Given the description of an element on the screen output the (x, y) to click on. 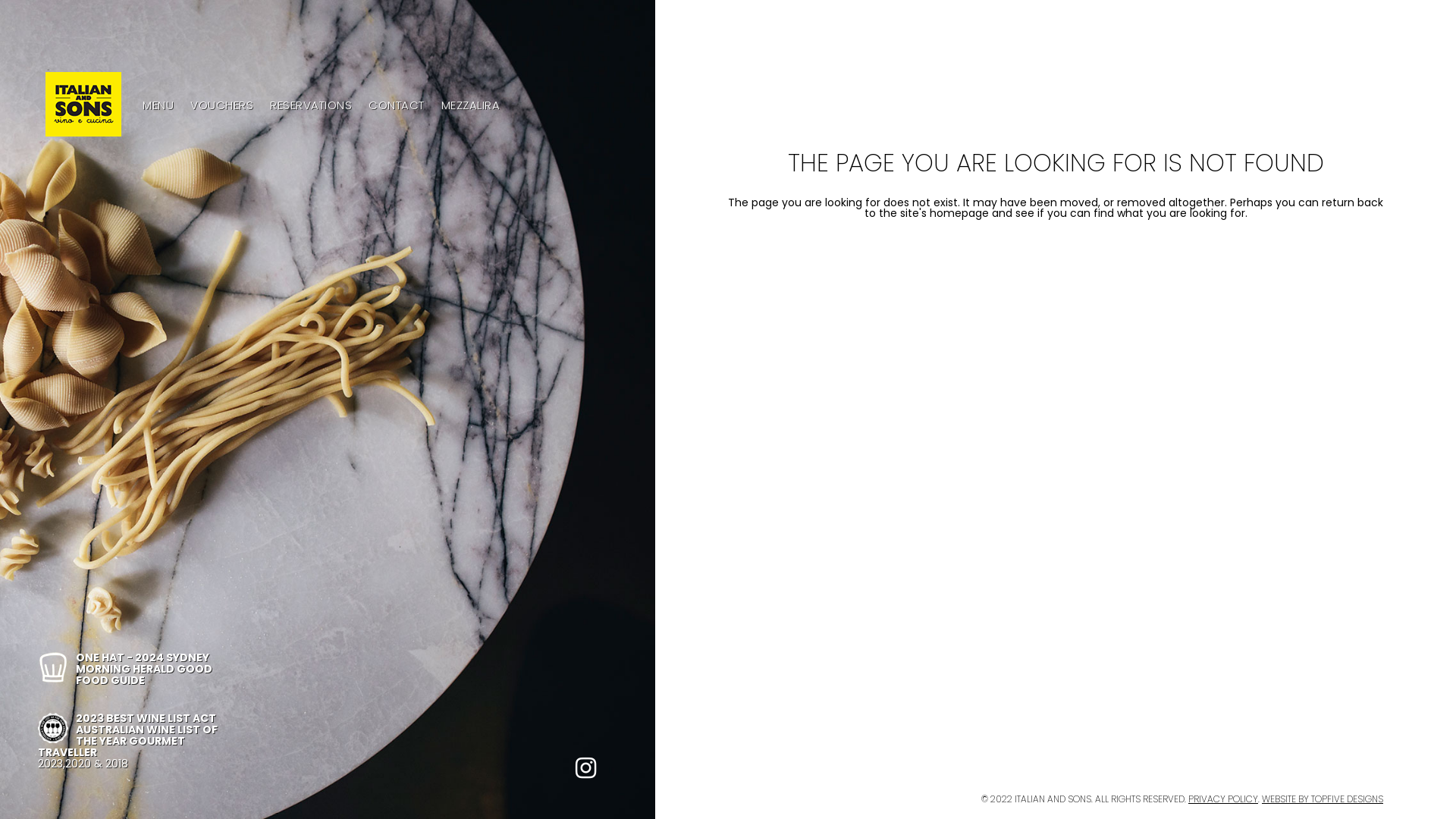
WEBSITE BY TOPFIVE DESIGNS Element type: text (1322, 797)
VOUCHERS Element type: text (221, 105)
RESERVATIONS Element type: text (310, 105)
CONTACT Element type: text (396, 105)
BACK TO HOMEPAGE Element type: text (1054, 273)
MENU Element type: text (157, 105)
PRIVACY POLICY Element type: text (1223, 797)
MEZZALIRA Element type: text (470, 105)
